Given the description of an element on the screen output the (x, y) to click on. 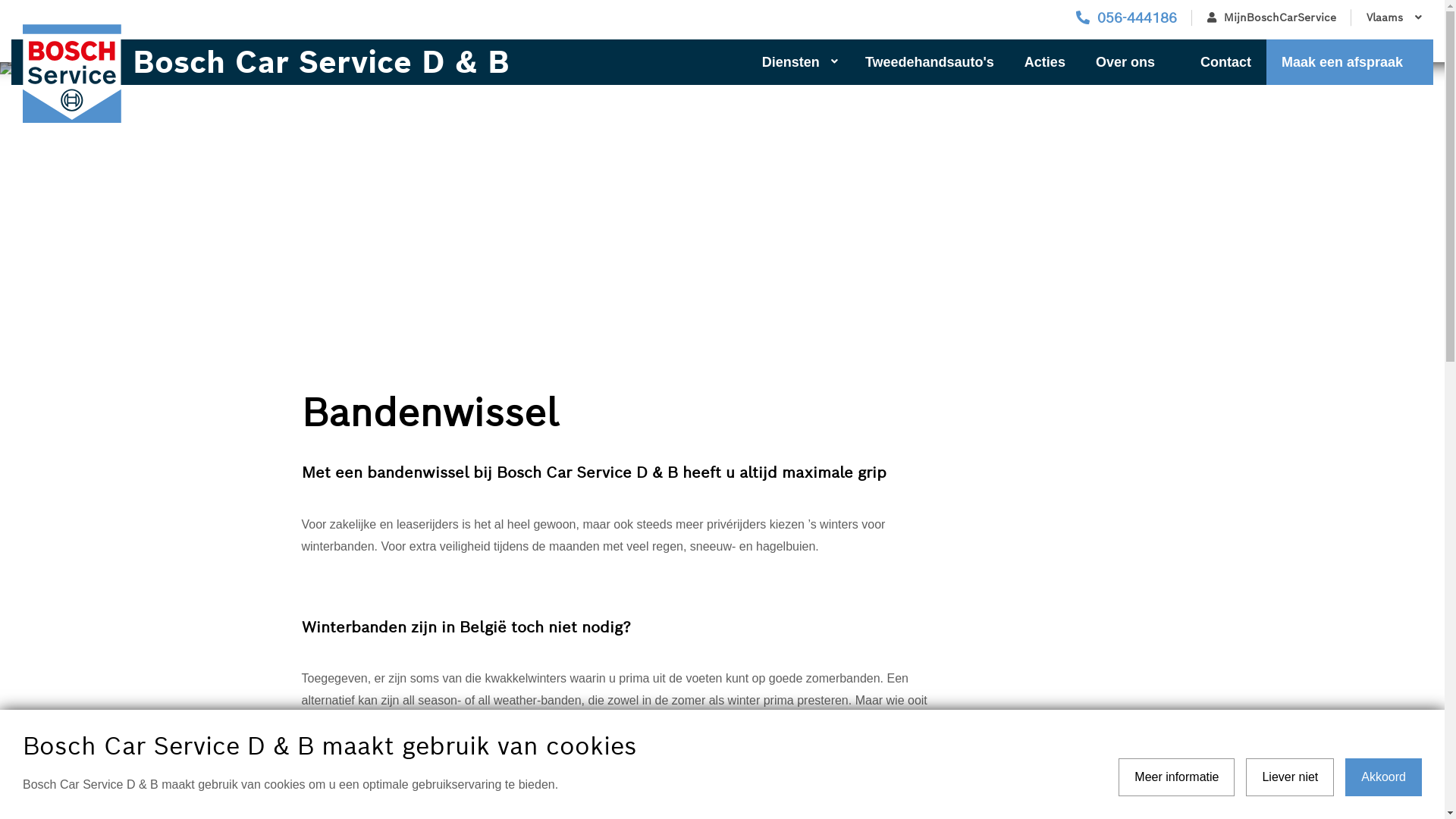
Tweedehandsauto's Element type: text (929, 61)
Acties Element type: text (1044, 61)
Liever niet Element type: text (1289, 777)
Over ons Element type: text (1132, 61)
Skip to main content Element type: text (0, 0)
Akkoord Element type: text (1383, 777)
056-444186 Element type: text (1126, 17)
Bosch Car Service D & B Element type: text (324, 61)
MijnBoschCarService Element type: text (1271, 17)
Contact Element type: text (1225, 61)
Diensten Element type: text (798, 61)
Meer informatie Element type: text (1176, 777)
Vlaams Element type: text (1392, 17)
Maak een afspraak Element type: text (1349, 61)
